Given the description of an element on the screen output the (x, y) to click on. 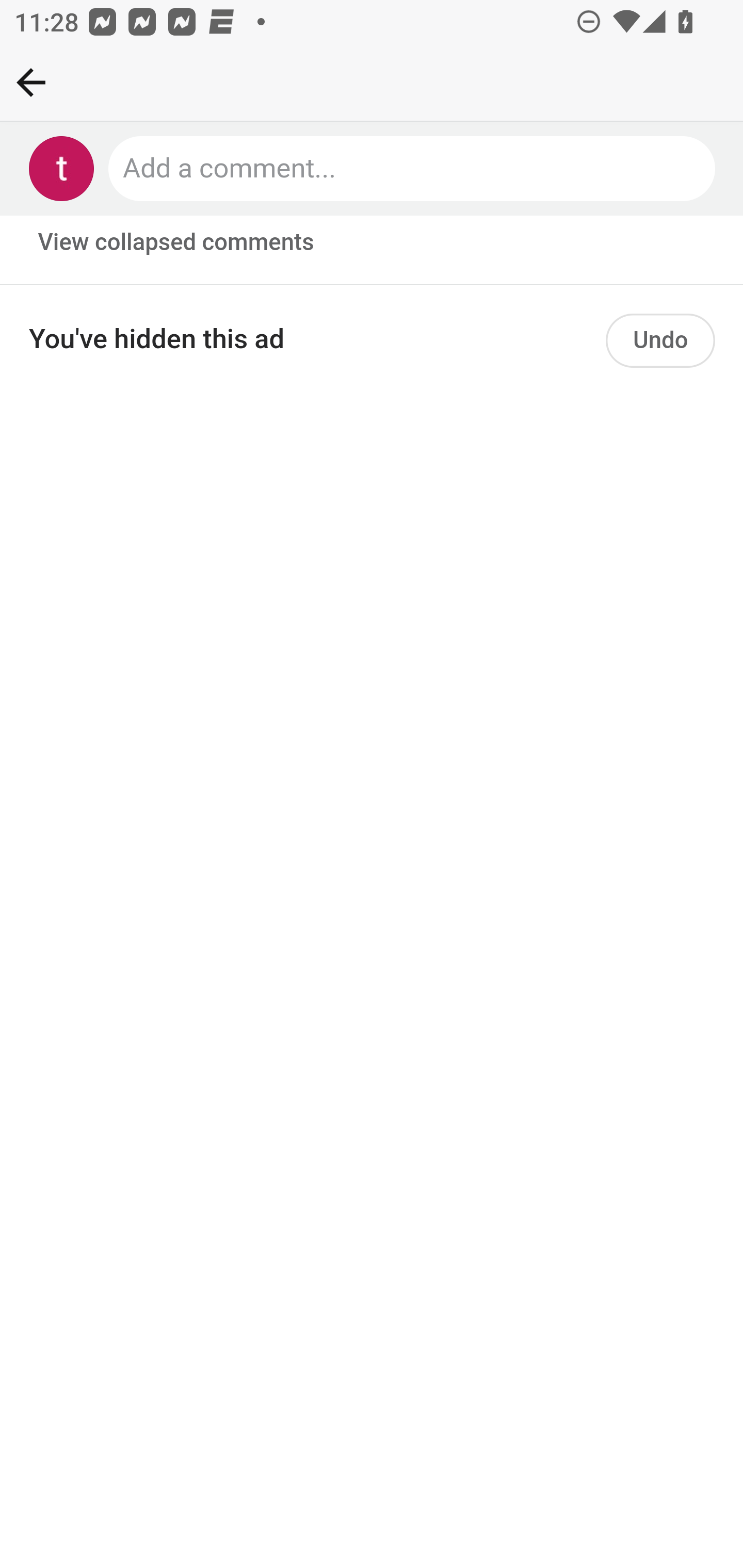
Back (30, 82)
Profile photo for Test Appium (61, 169)
Add a comment... (412, 169)
View collapsed comments (176, 243)
Undo (660, 343)
